Given the description of an element on the screen output the (x, y) to click on. 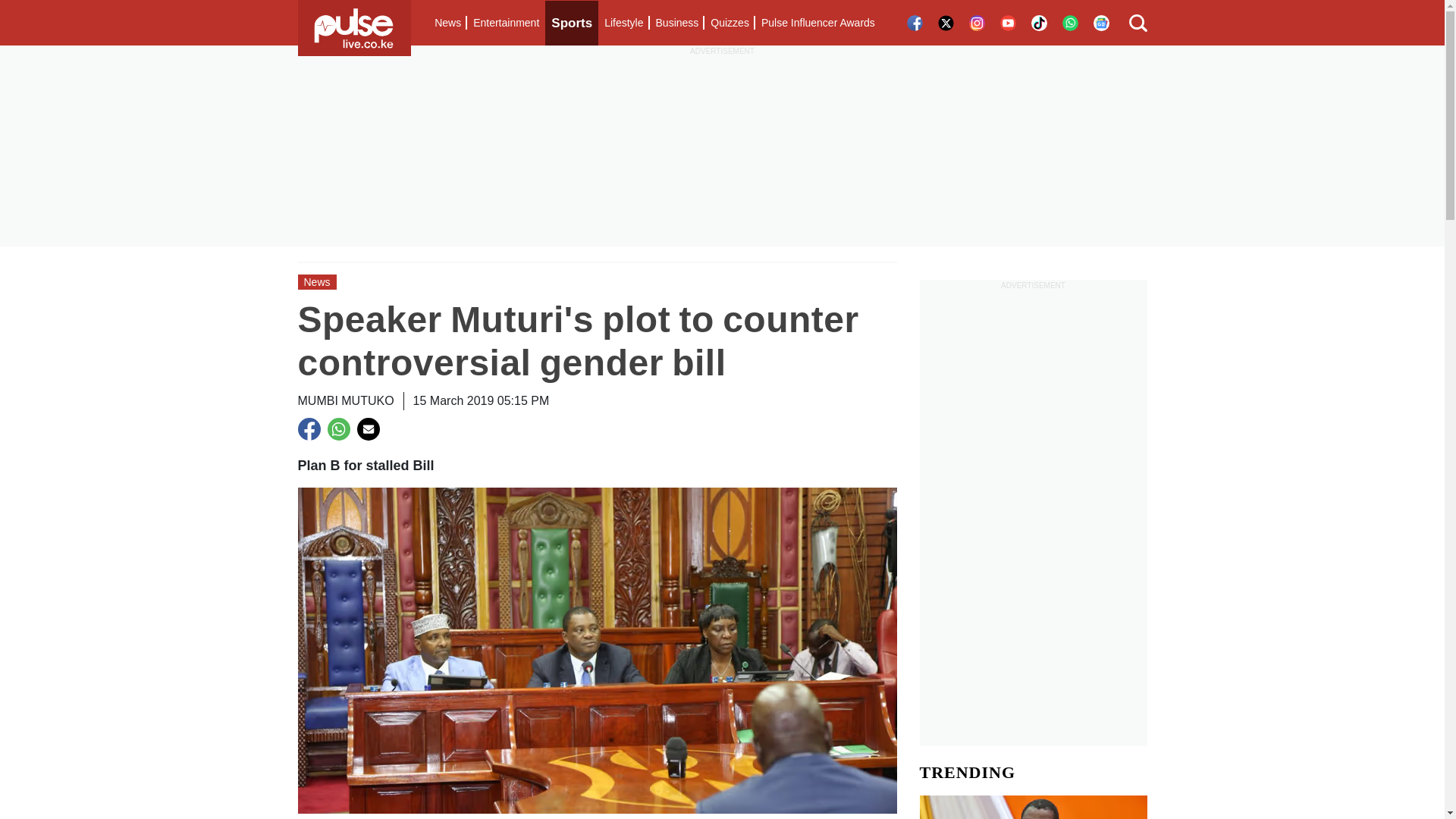
Quizzes (729, 22)
Lifestyle (623, 22)
Entertainment (505, 22)
Pulse Influencer Awards (817, 22)
Business (676, 22)
Sports (571, 22)
